Given the description of an element on the screen output the (x, y) to click on. 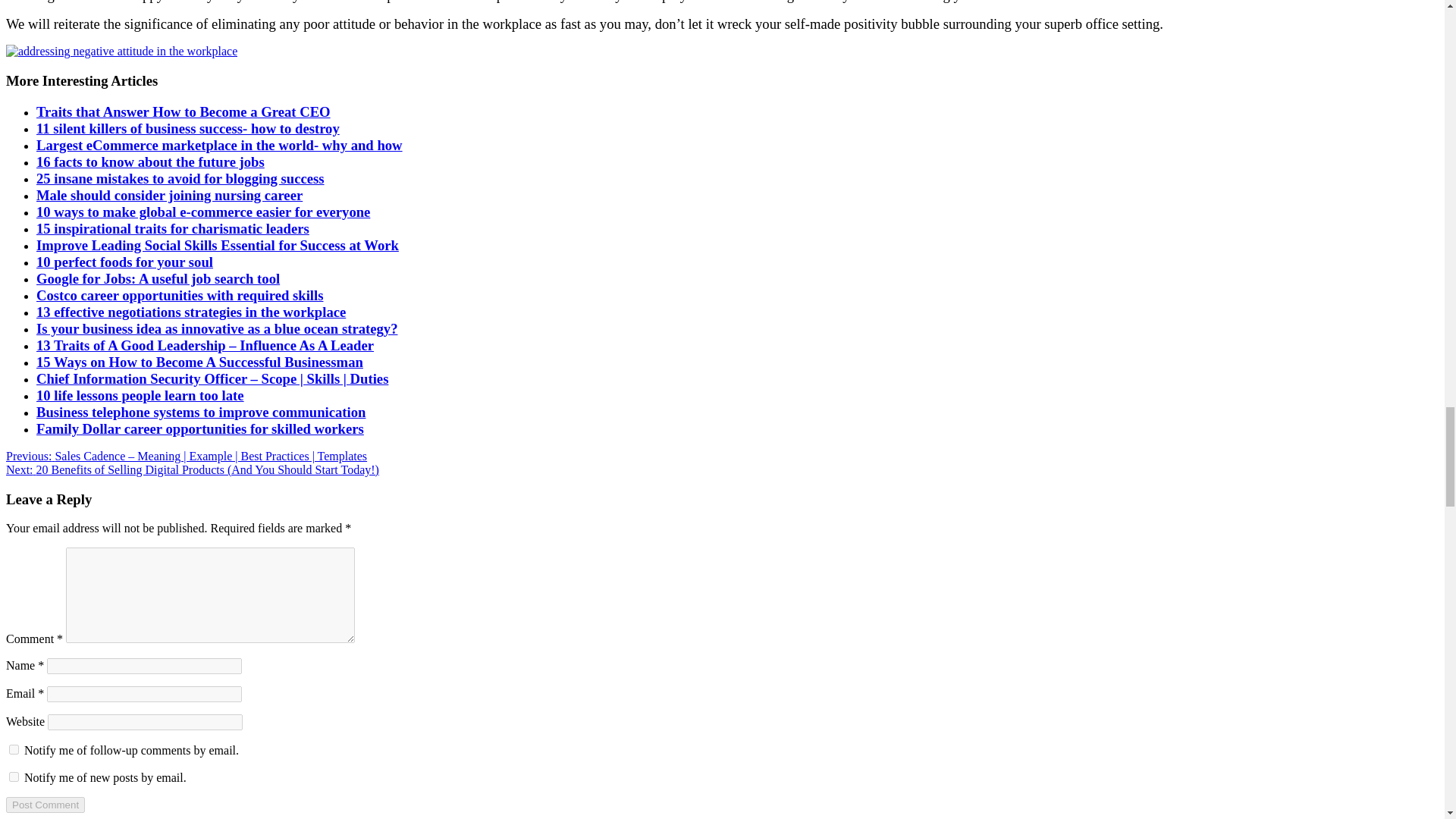
Google for Jobs: A useful job search tool (157, 278)
11 silent killers of business success- how to destroy (187, 128)
Costco career opportunities with required skills (179, 295)
Post Comment (44, 804)
15 inspirational traits for charismatic leaders (172, 228)
16 facts to know about the future jobs (150, 161)
Traits that Answer How to Become a Great CEO (183, 111)
25 insane mistakes to avoid for blogging success (180, 178)
Family Dollar career opportunities for skilled workers (200, 428)
Improve Leading Social Skills Essential for Success at Work (217, 245)
